Given the description of an element on the screen output the (x, y) to click on. 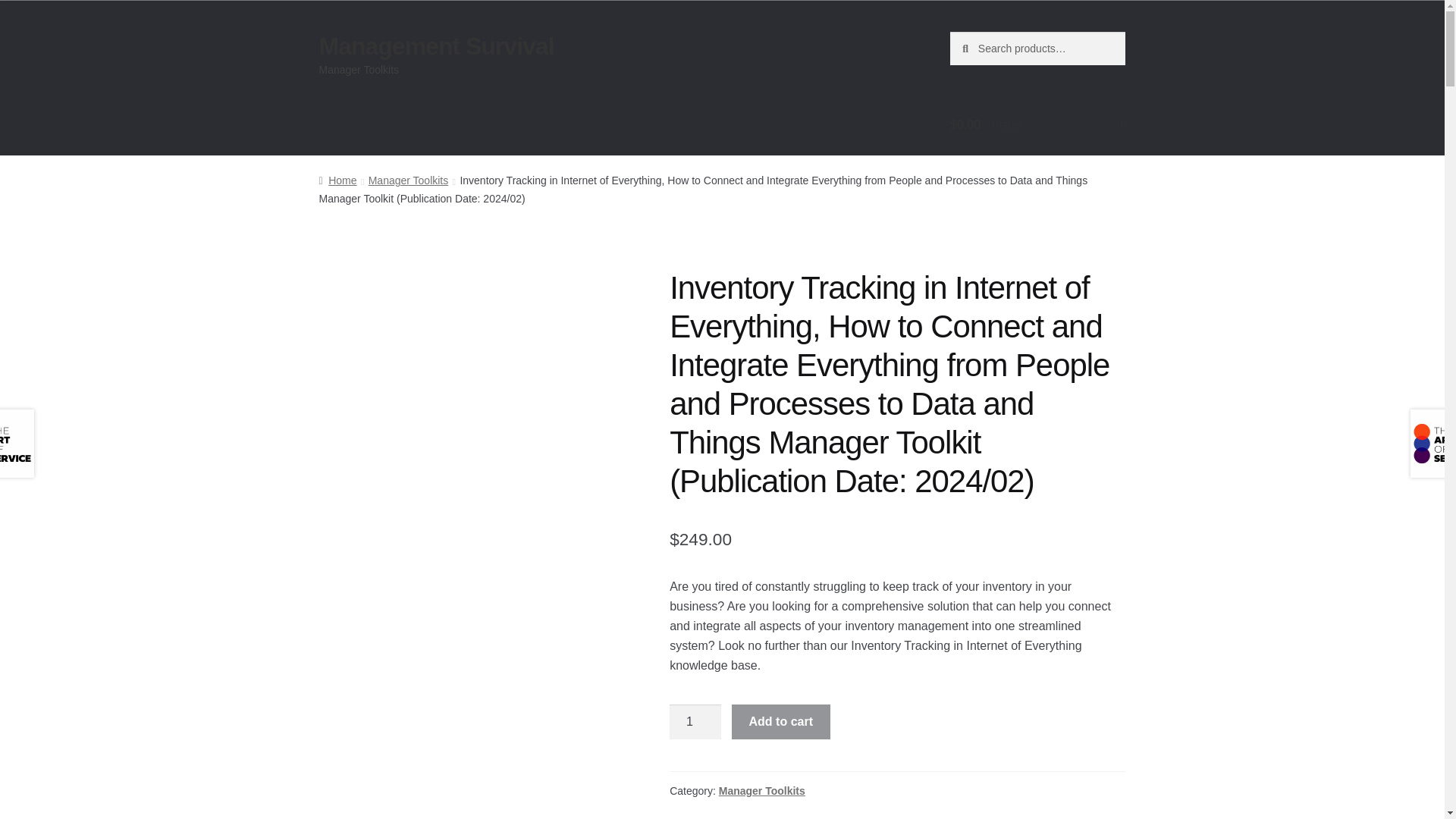
Home (337, 180)
Add to cart (780, 721)
Management Survival (436, 45)
Manager Toolkits (762, 790)
View your shopping cart (1037, 124)
1 (694, 721)
Manager Toolkits (408, 180)
